Given the description of an element on the screen output the (x, y) to click on. 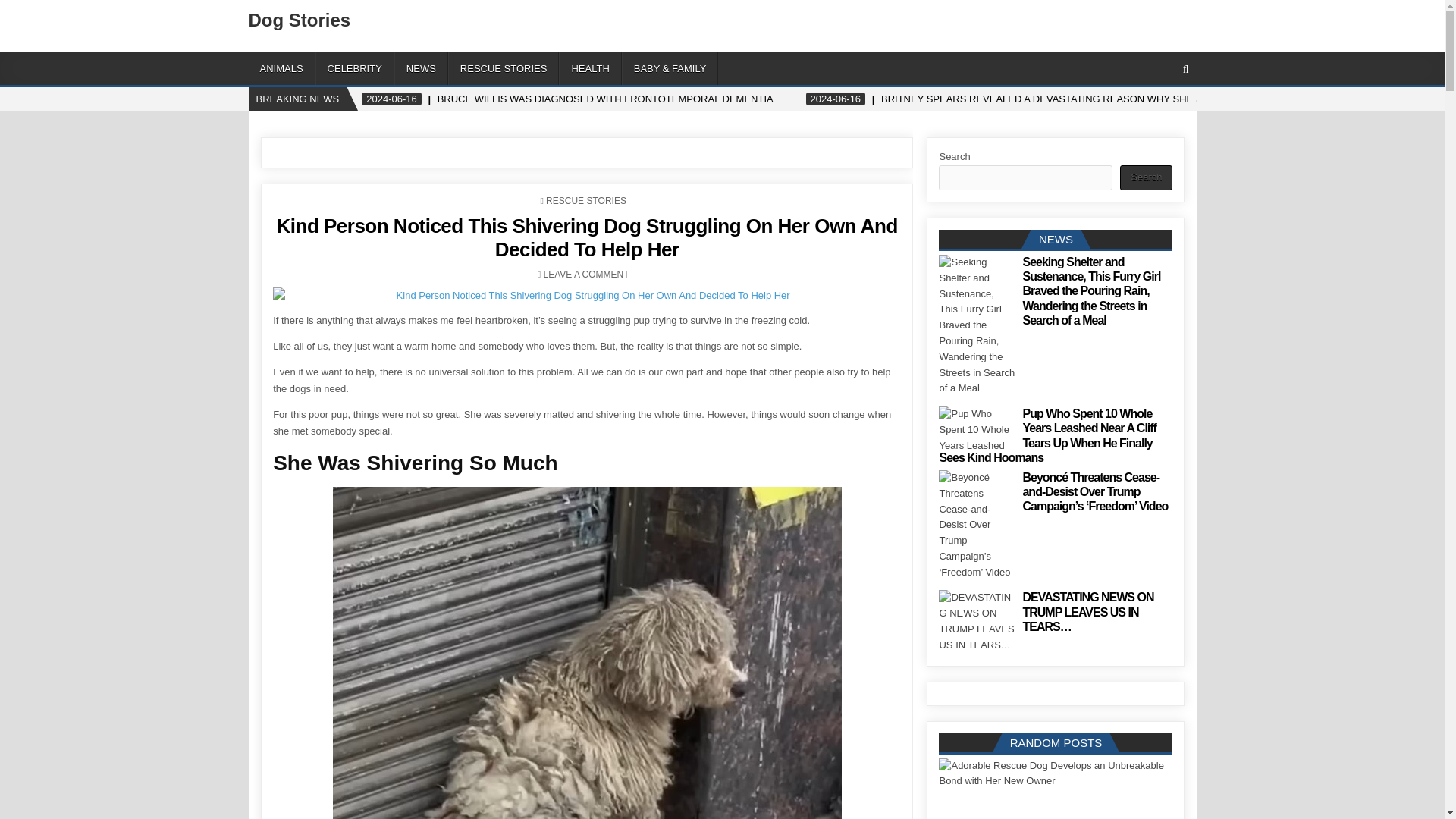
Dog Stories (299, 19)
ANIMALS (281, 68)
RESCUE STORIES (503, 68)
CELEBRITY (354, 68)
NEWS (421, 68)
HEALTH (590, 68)
